Given the description of an element on the screen output the (x, y) to click on. 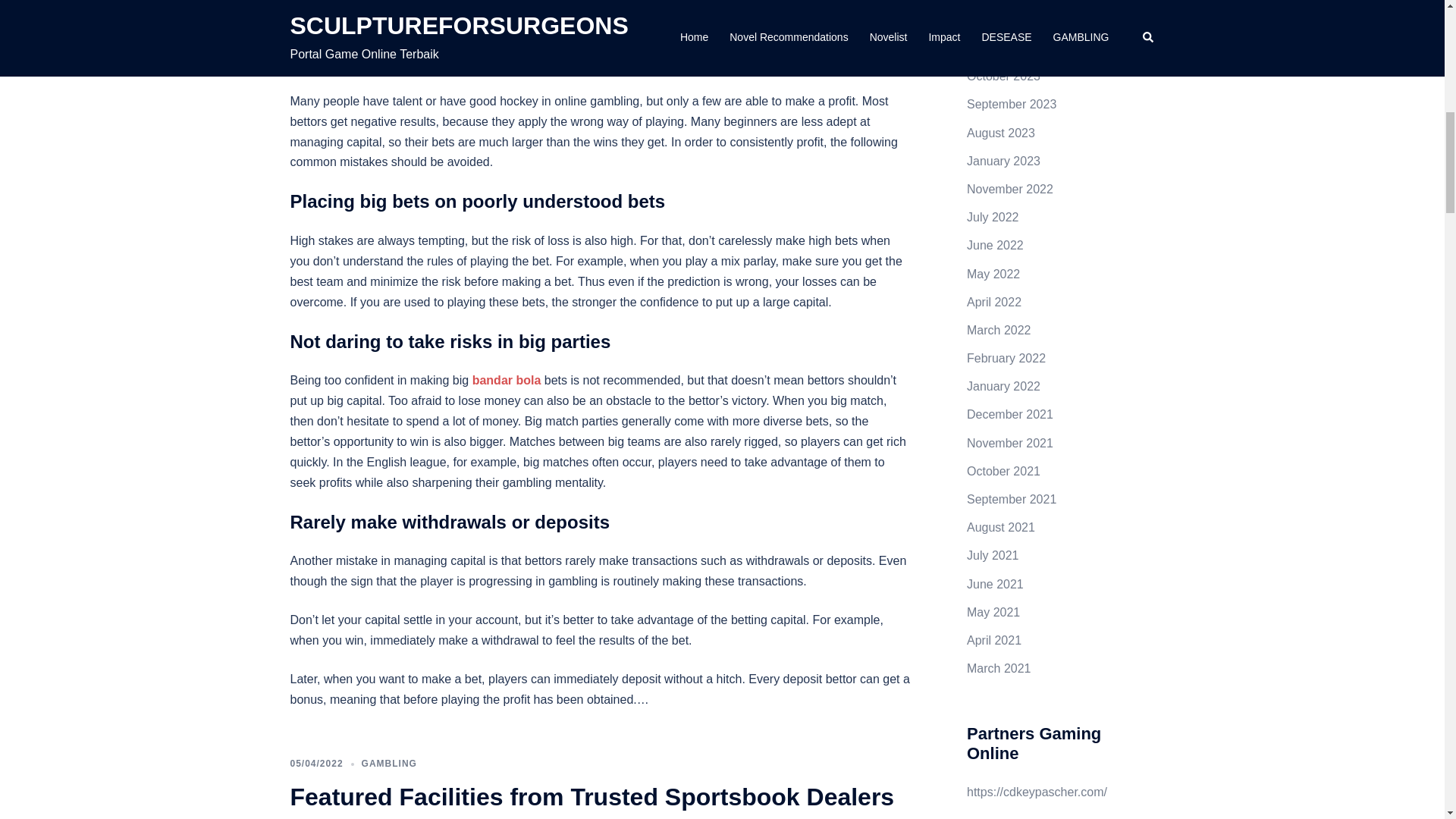
bandar bola (506, 379)
Featured Facilities from Trusted Sportsbook Dealers (591, 796)
GAMBLING (388, 763)
